Given the description of an element on the screen output the (x, y) to click on. 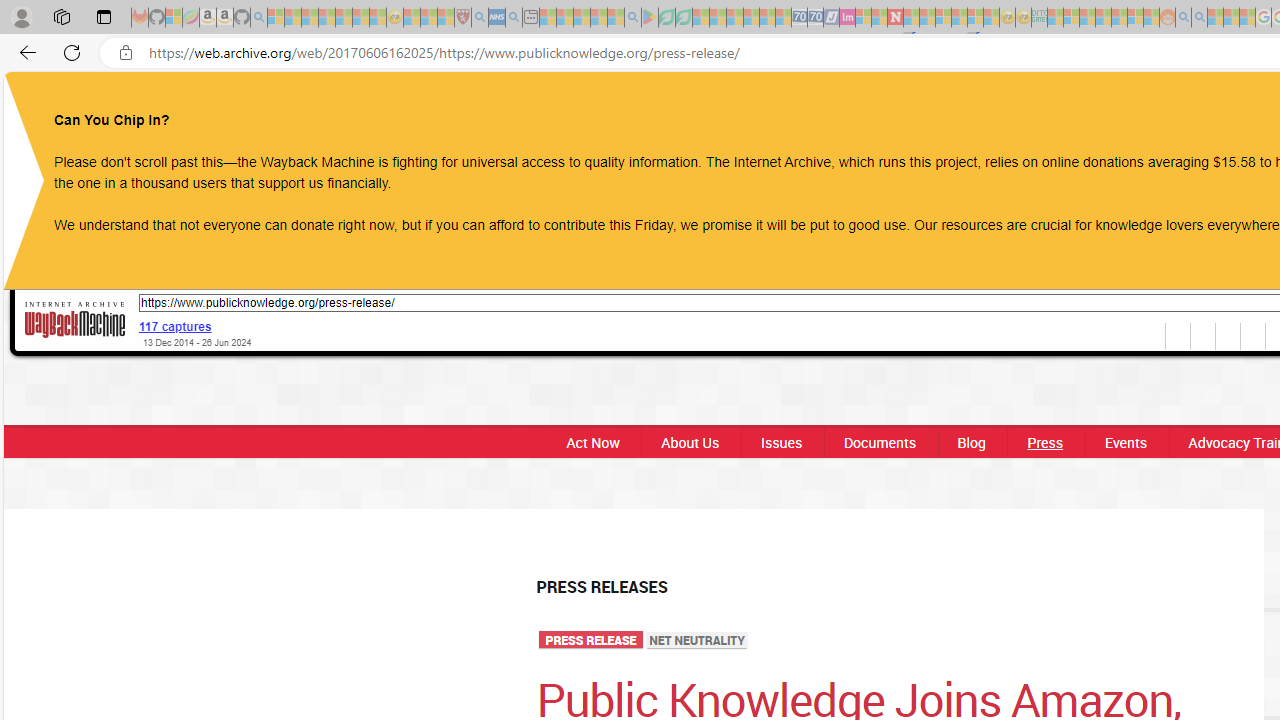
Act Now (592, 442)
FACEBOOK (1138, 108)
Wayback Machine (75, 321)
PRESS RELEASE (591, 641)
